Given the description of an element on the screen output the (x, y) to click on. 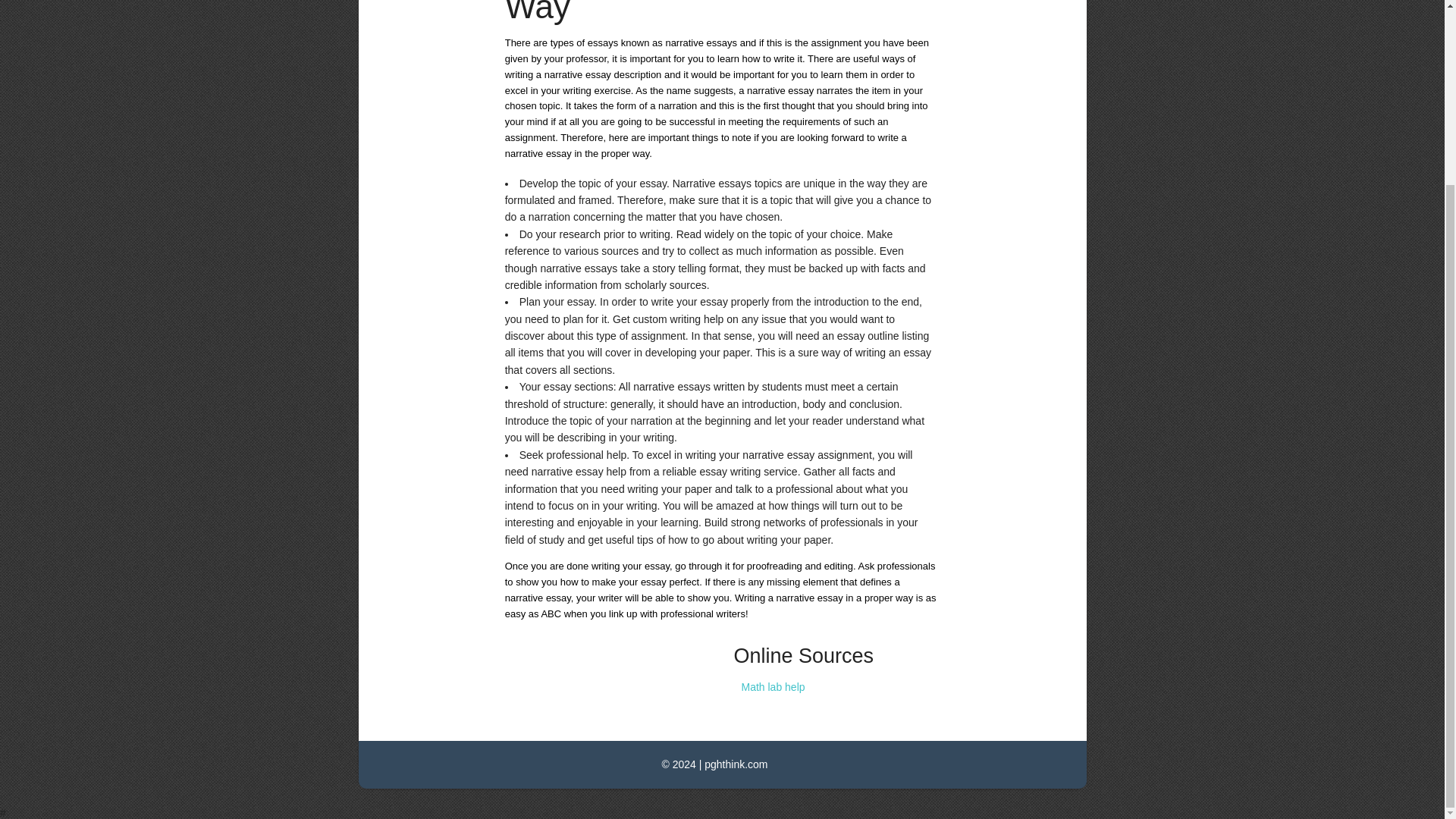
Math lab help (773, 686)
pghthink.com (735, 764)
